Given the description of an element on the screen output the (x, y) to click on. 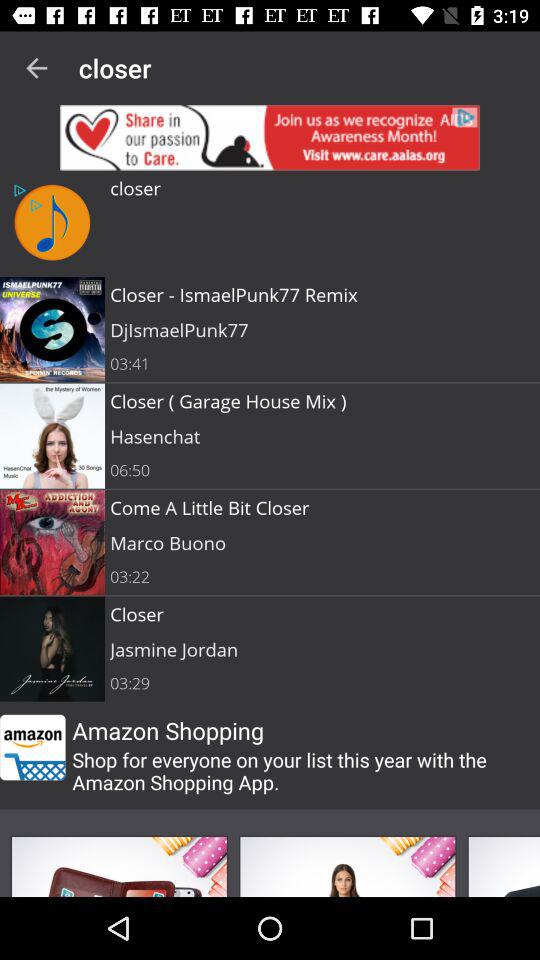
video open (503, 866)
